Given the description of an element on the screen output the (x, y) to click on. 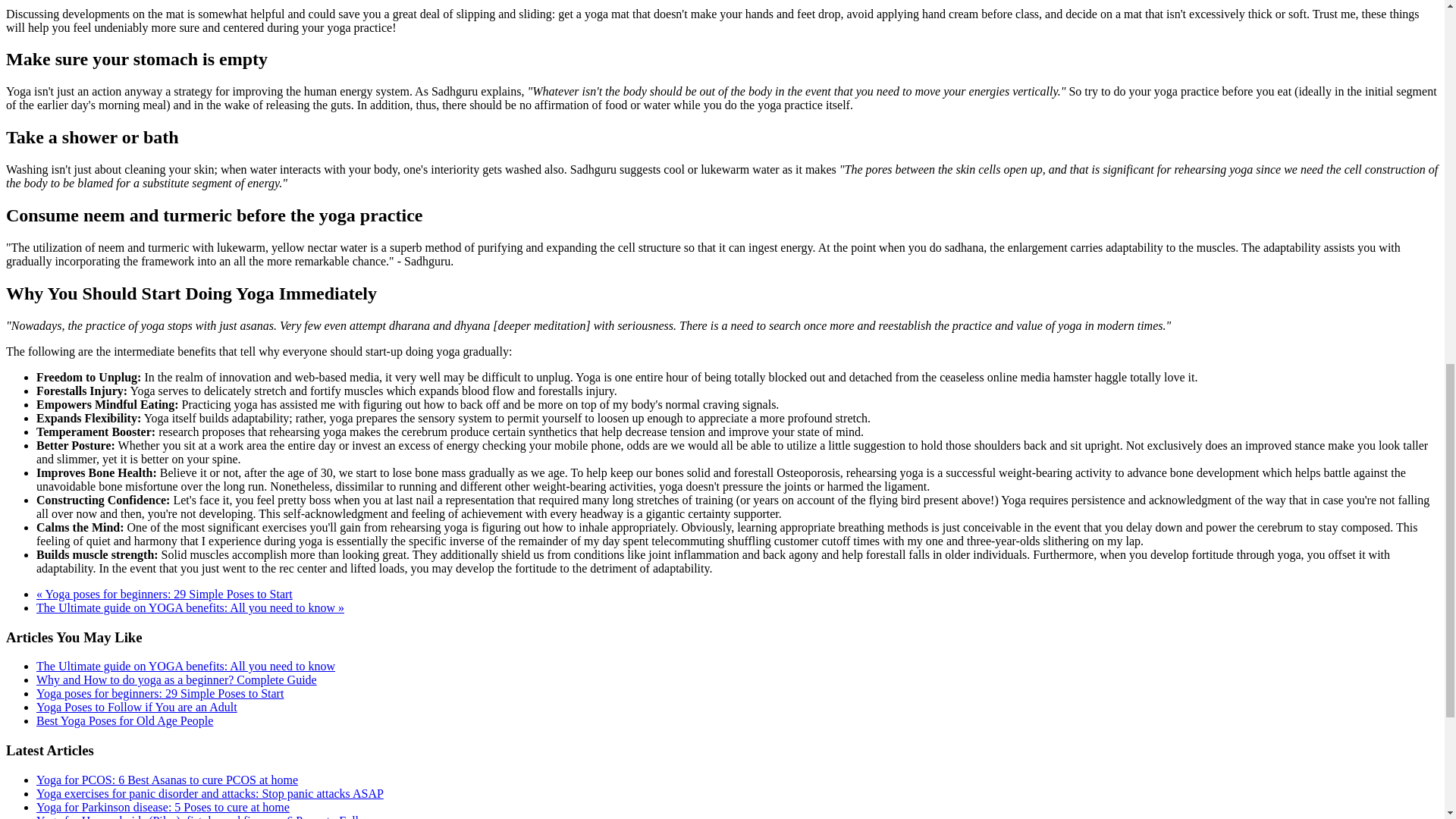
Yoga poses for beginners: 29 Simple Poses to Start (159, 693)
Why and How to do yoga as a beginner? Complete Guide (176, 679)
Yoga for Parkinson disease: 5 Poses to cure at home (162, 807)
The Ultimate guide on YOGA benefits: All you need to know (185, 666)
Best Yoga Poses for Old Age People (124, 720)
Yoga for PCOS: 6 Best Asanas to cure PCOS at home (167, 779)
Yoga poses for beginners: 29 Simple Poses to Start (164, 594)
The Ultimate guide on YOGA benefits: All you need to know (189, 607)
Yoga Poses to Follow if You are an Adult (136, 707)
